Given the description of an element on the screen output the (x, y) to click on. 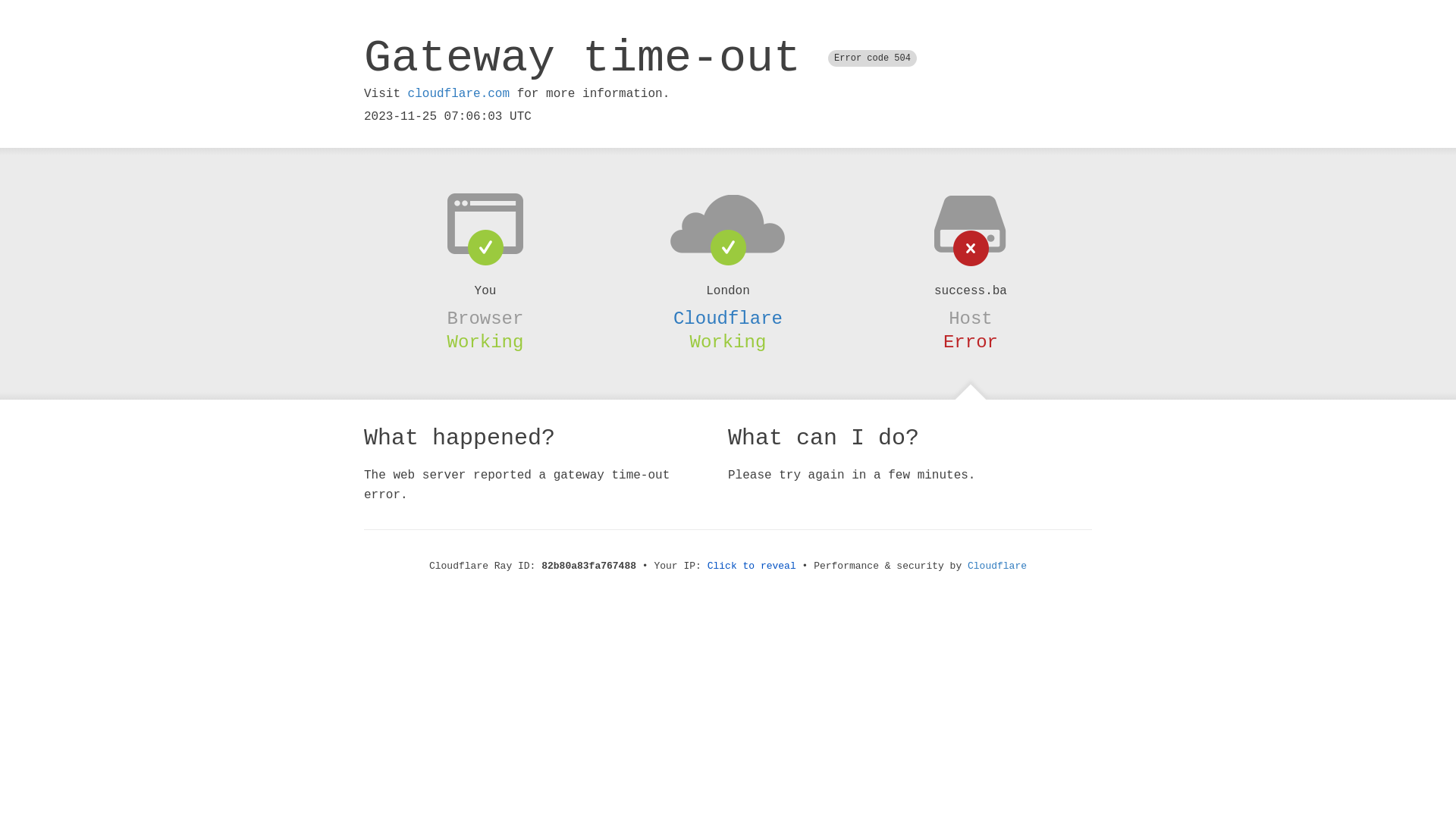
Cloudflare Element type: text (727, 318)
cloudflare.com Element type: text (458, 93)
Click to reveal Element type: text (751, 565)
Cloudflare Element type: text (996, 565)
